Given the description of an element on the screen output the (x, y) to click on. 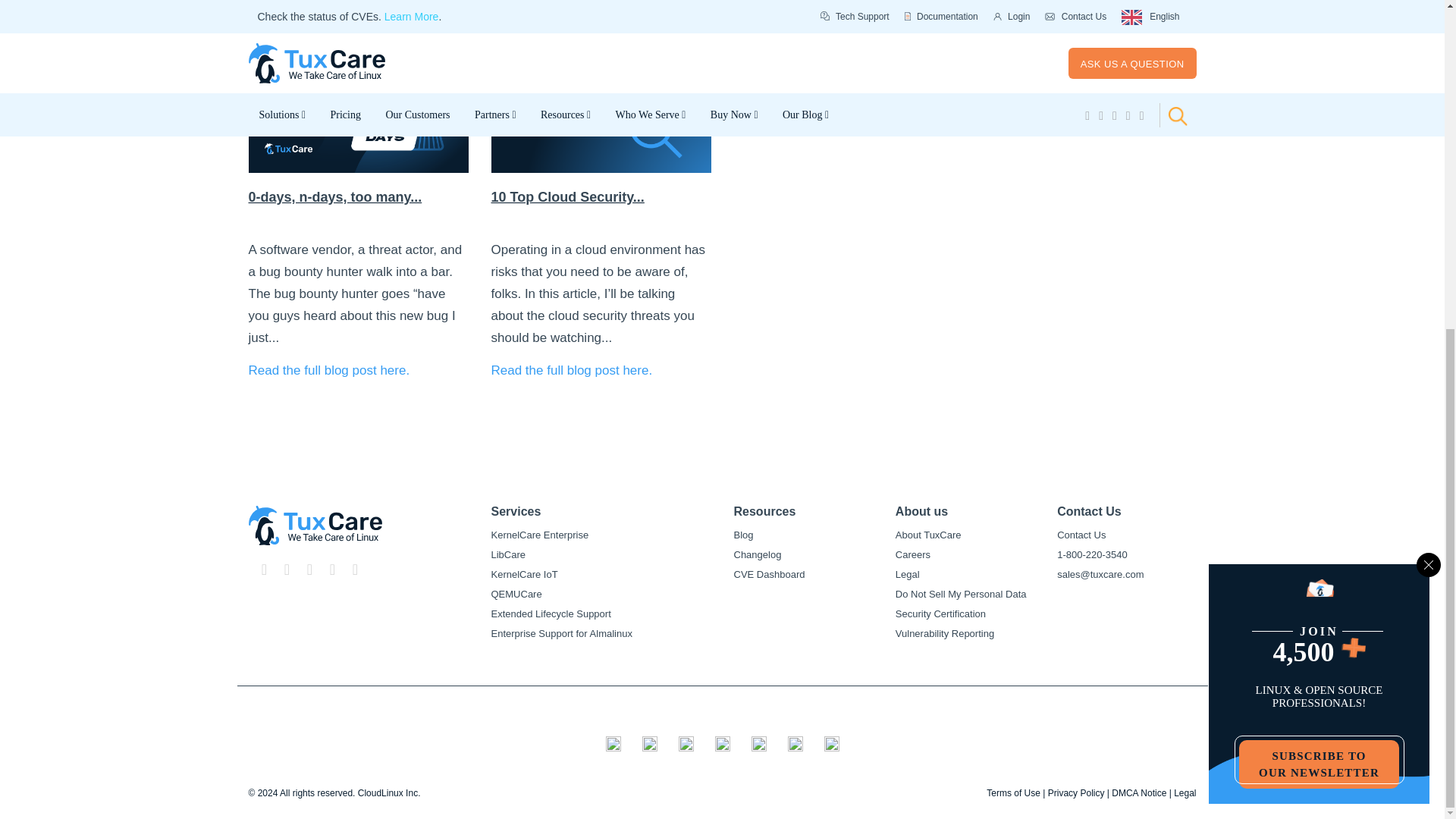
Linkedin (331, 568)
Twitter (264, 568)
TuxCare Logo (314, 525)
Youtube (286, 568)
Facebook (309, 568)
